Given the description of an element on the screen output the (x, y) to click on. 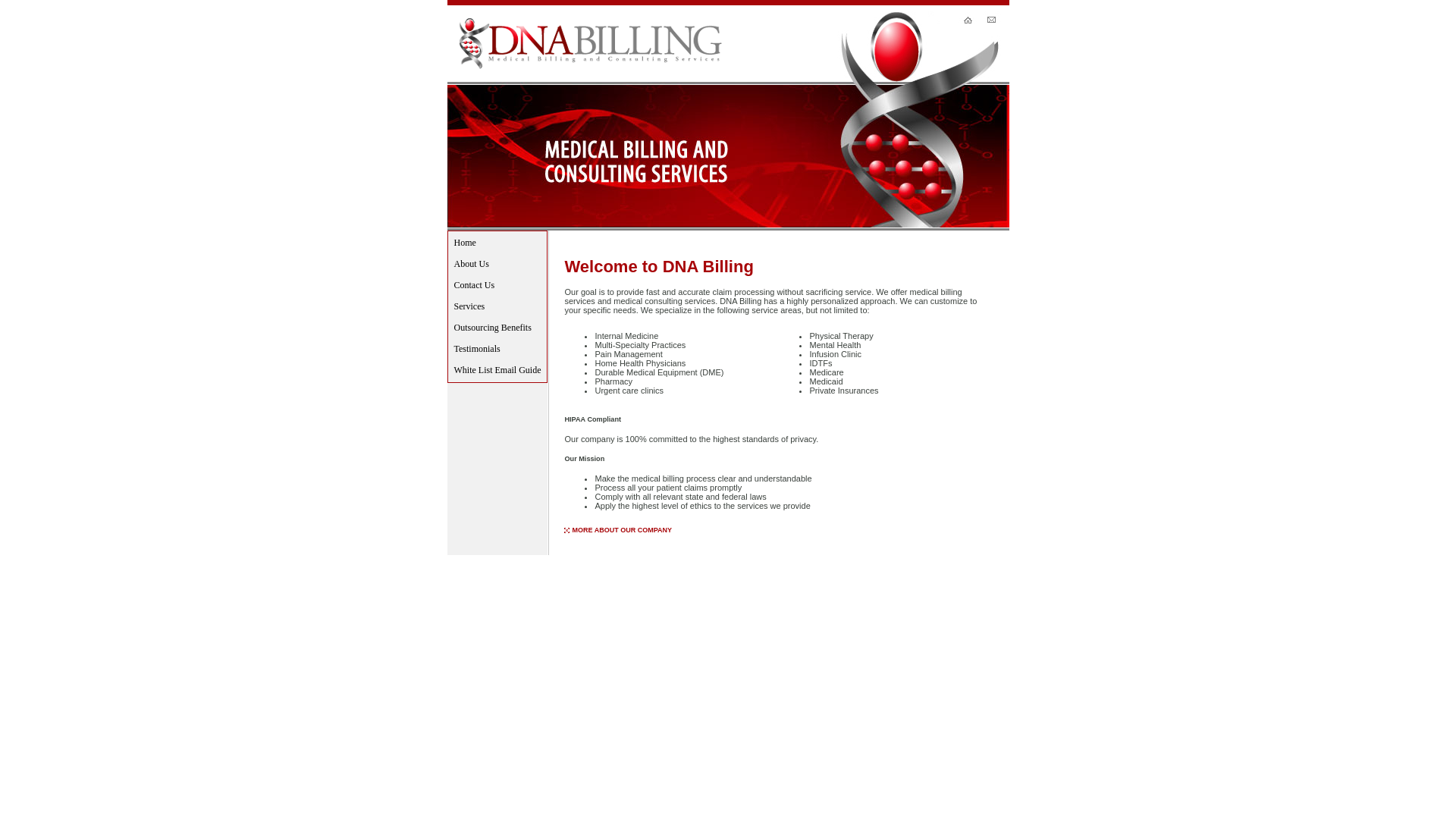
HOME (614, 568)
MORE ABOUT OUR COMPANY (622, 529)
SERVICES (740, 568)
CONTACT US (694, 568)
ABOUT US (648, 568)
OUTSOURCING BENEFITS (807, 568)
